Given the description of an element on the screen output the (x, y) to click on. 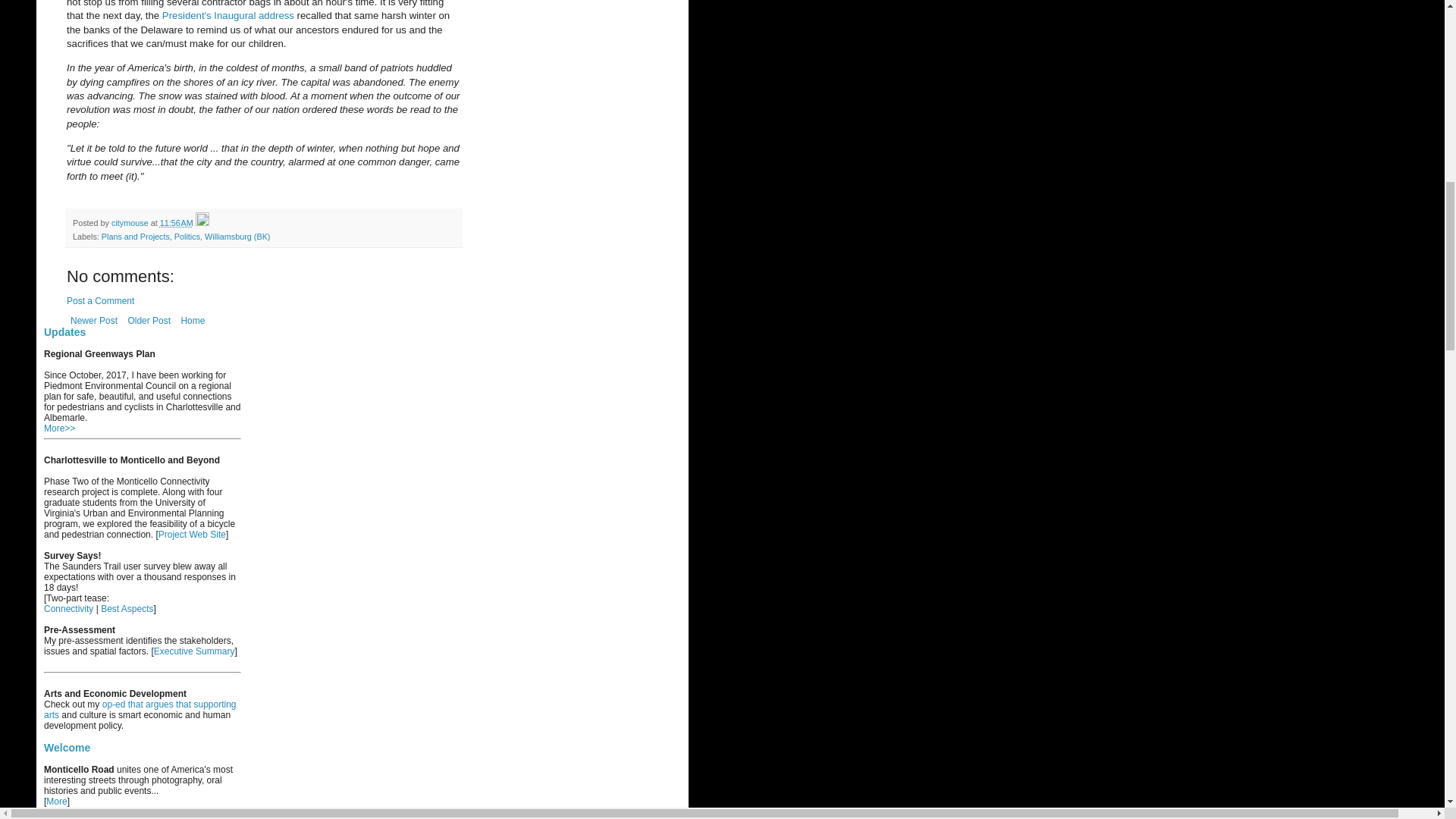
author profile (131, 222)
Older Post (148, 321)
President's Inaugural address (227, 15)
Project Web Site (191, 534)
citymouse (131, 222)
Best Aspects (126, 608)
Newer Post (93, 321)
Home (192, 321)
op-ed that argues that supporting arts (139, 709)
Post a Comment (99, 300)
This brief documentary (89, 818)
Newer Post (93, 321)
Plans and Projects (135, 235)
Connectivity (68, 608)
Edit Post (202, 222)
